Given the description of an element on the screen output the (x, y) to click on. 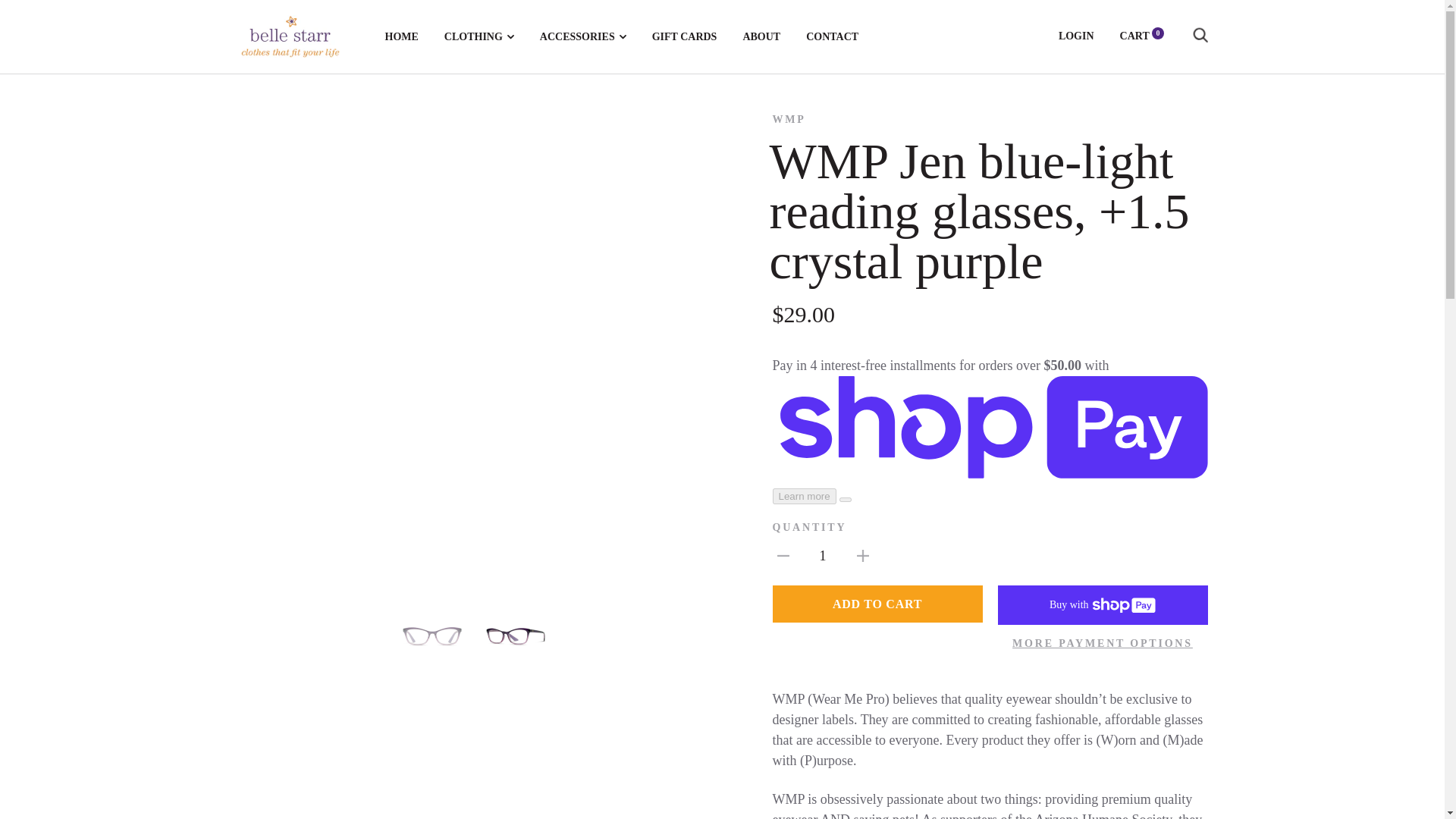
Increase quantity by 1 (862, 554)
Decrease quantity by 1 (782, 554)
